Given the description of an element on the screen output the (x, y) to click on. 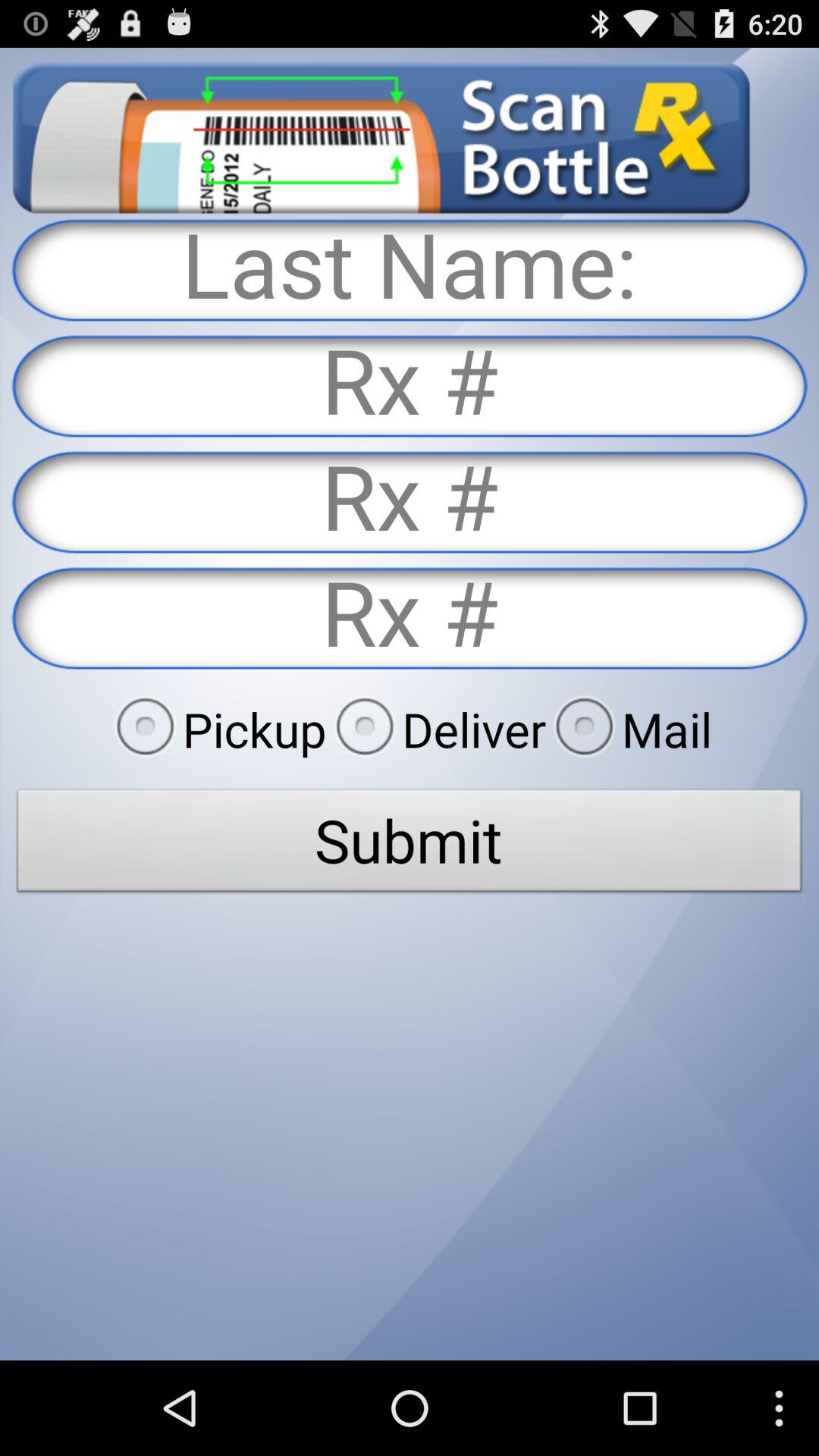
press mail on the right (629, 728)
